Given the description of an element on the screen output the (x, y) to click on. 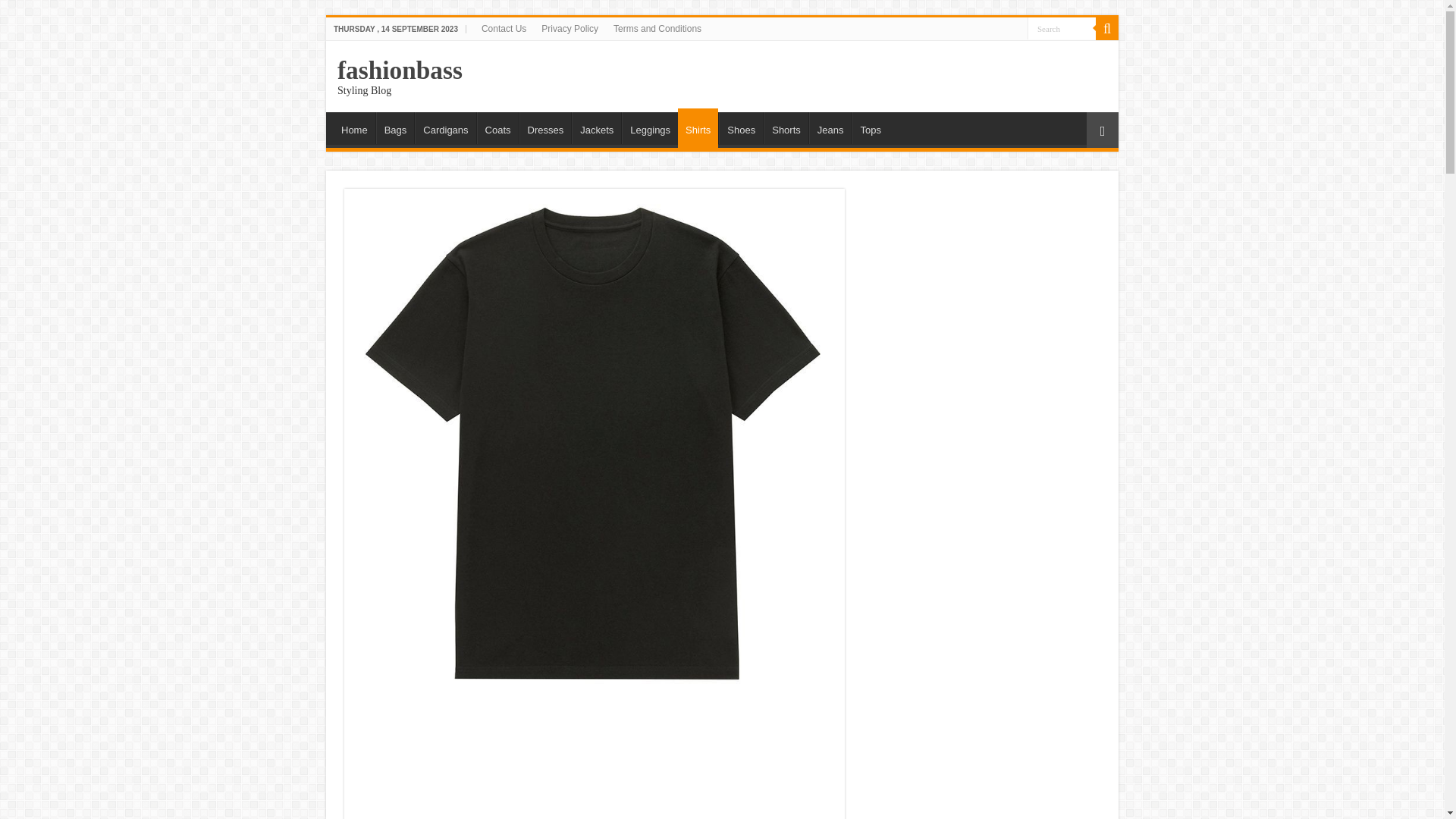
Search (1061, 28)
Random Article (1102, 130)
Coats (497, 128)
Jeans (830, 128)
Tops (869, 128)
Search (1107, 28)
Cardigans (445, 128)
Home (354, 128)
Terms and Conditions (657, 28)
